Given the description of an element on the screen output the (x, y) to click on. 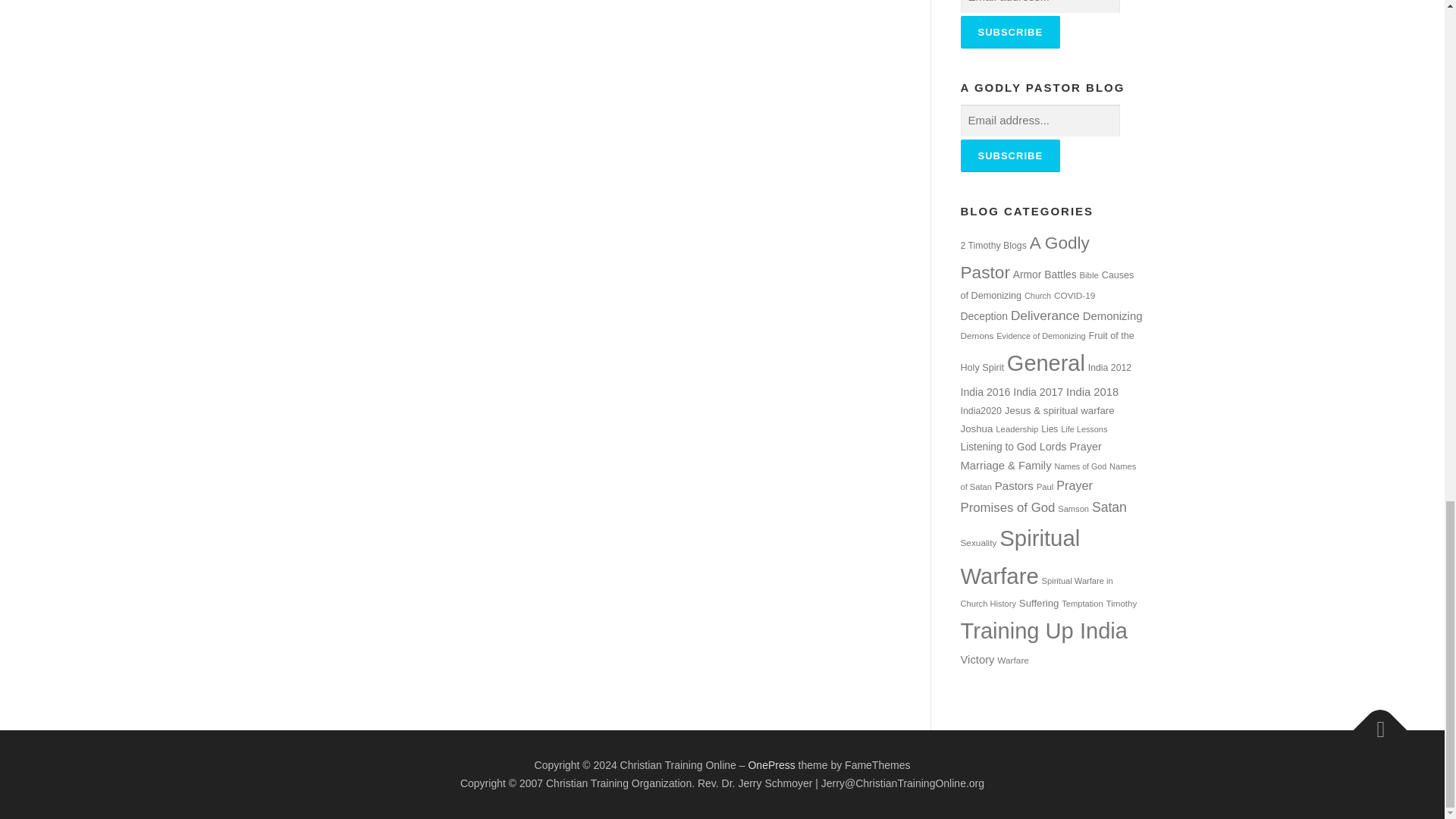
Back To Top (1372, 721)
Subscribe (1009, 31)
Subscribe (1009, 155)
